Given the description of an element on the screen output the (x, y) to click on. 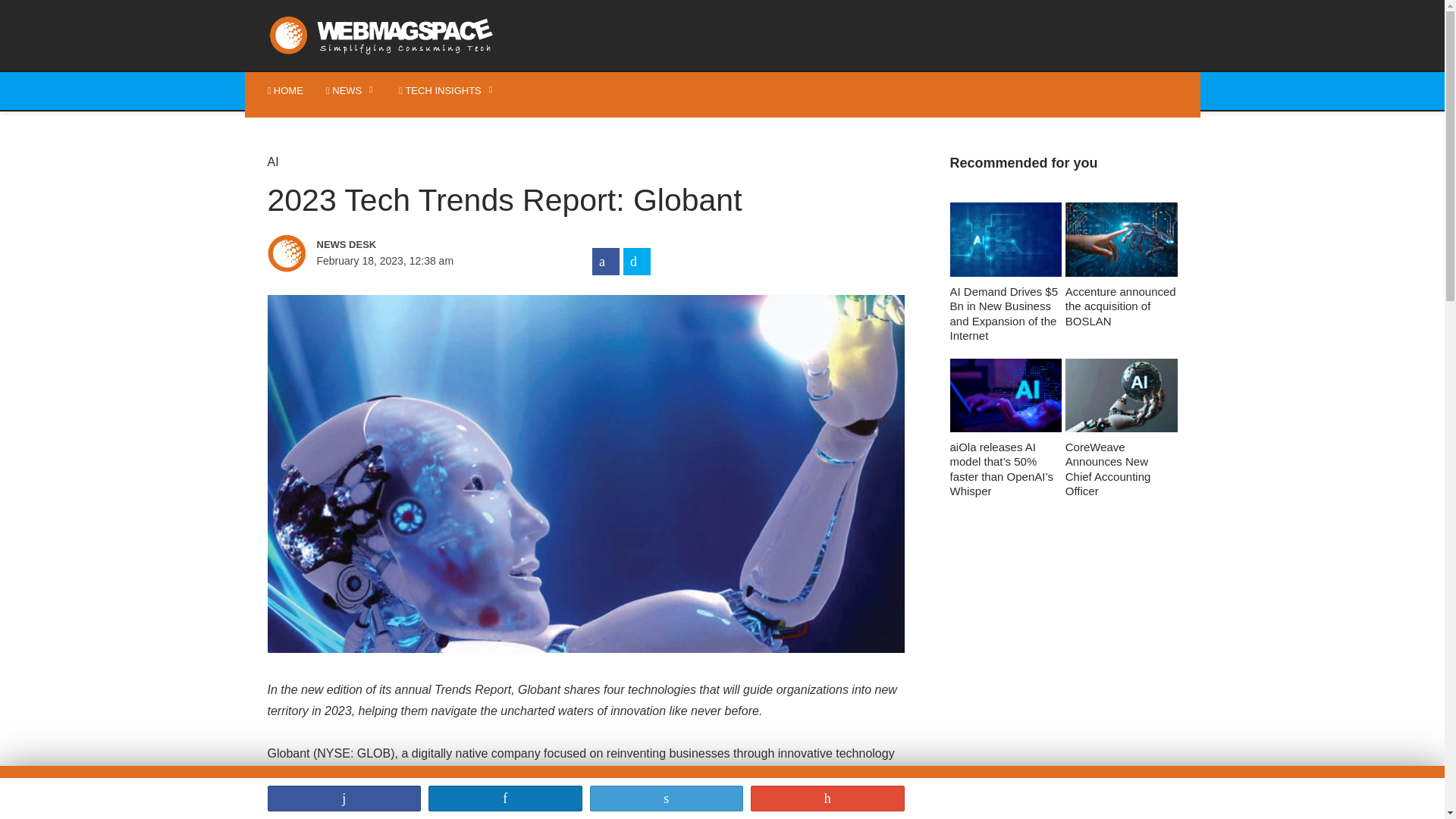
NEWS DESK (422, 244)
View all posts by NEWS DESK (422, 244)
NEWS (350, 90)
TECH INSIGHTS (446, 90)
HOME (285, 90)
Accenture announced the acquisition of BOSLAN (1121, 265)
